Given the description of an element on the screen output the (x, y) to click on. 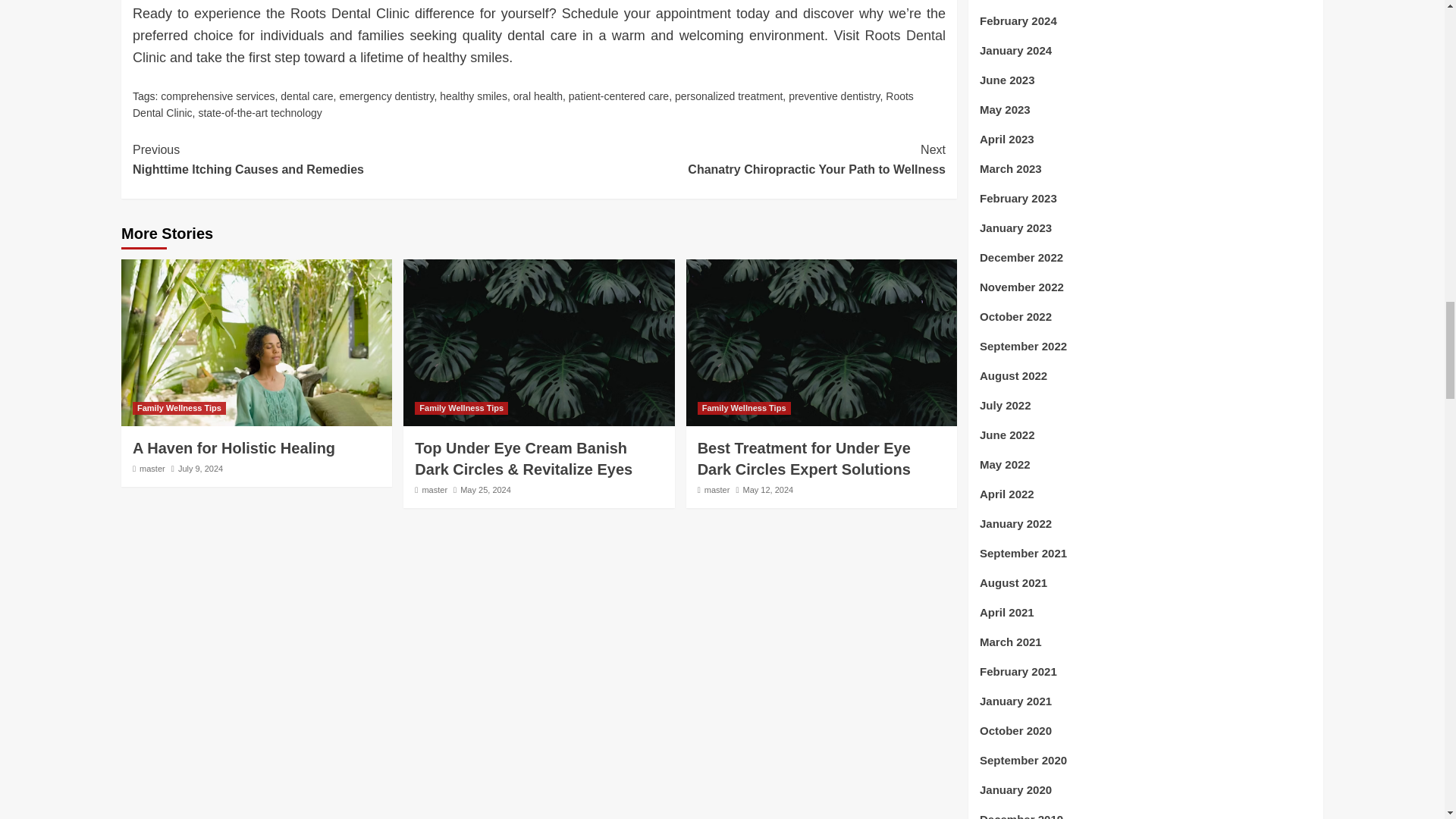
dental care (307, 96)
emergency dentistry (335, 159)
comprehensive services (386, 96)
patient-centered care (217, 96)
Roots Dental Clinic (618, 96)
state-of-the-art technology (538, 46)
personalized treatment (259, 112)
healthy smiles (729, 96)
preventive dentistry (472, 96)
Roots Dental Clinic (834, 96)
oral health (523, 104)
